Given the description of an element on the screen output the (x, y) to click on. 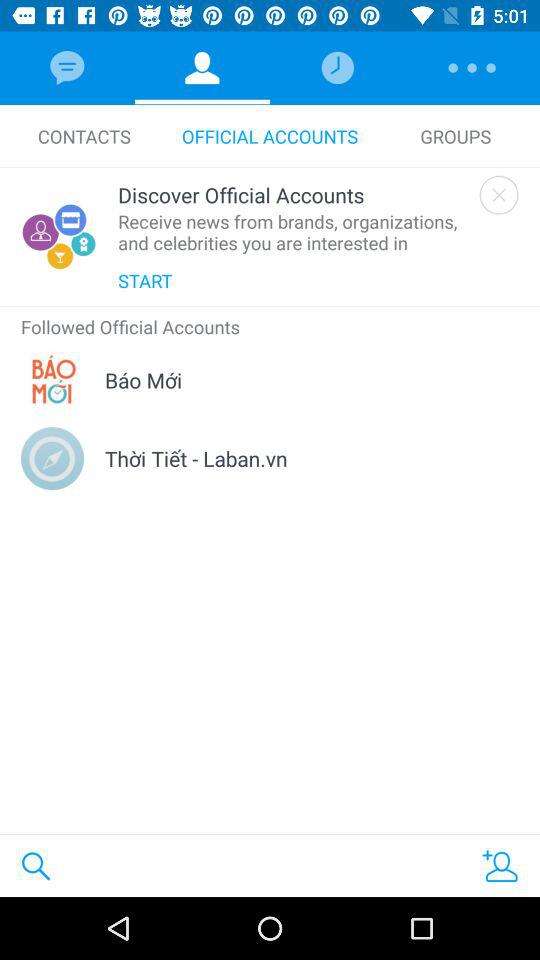
close (498, 194)
